Given the description of an element on the screen output the (x, y) to click on. 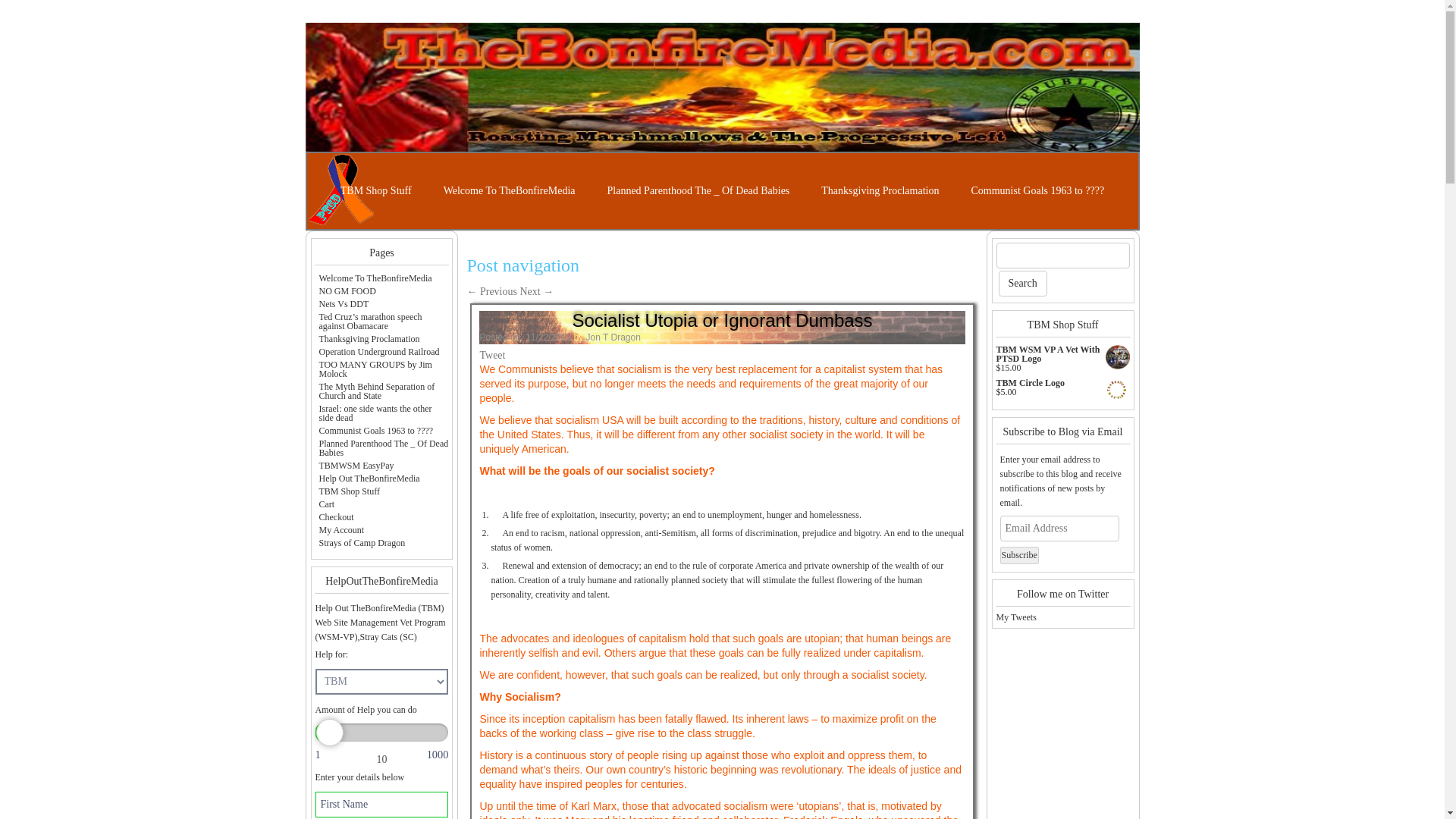
TBM Shop Stuff (348, 491)
Cart (326, 503)
Permalink to Socialist Utopia or Ignorant Dumbass (500, 337)
TOO MANY GROUPS by Jim Molock (374, 369)
Communist Goals 1963 to ???? (375, 430)
Nets Vs DDT (343, 303)
Welcome To TheBonfireMedia (509, 191)
Thanksgiving Proclamation (368, 338)
TBM Shop Stuff (376, 191)
Communist Goals 1963 to ???? (1036, 191)
Thanksgiving Proclamation (878, 191)
Subscribe (1019, 555)
The Myth Behind Separation of Church and State (375, 391)
Checkout (335, 516)
Permalink to Socialist Utopia or Ignorant Dumbass (722, 320)
